Given the description of an element on the screen output the (x, y) to click on. 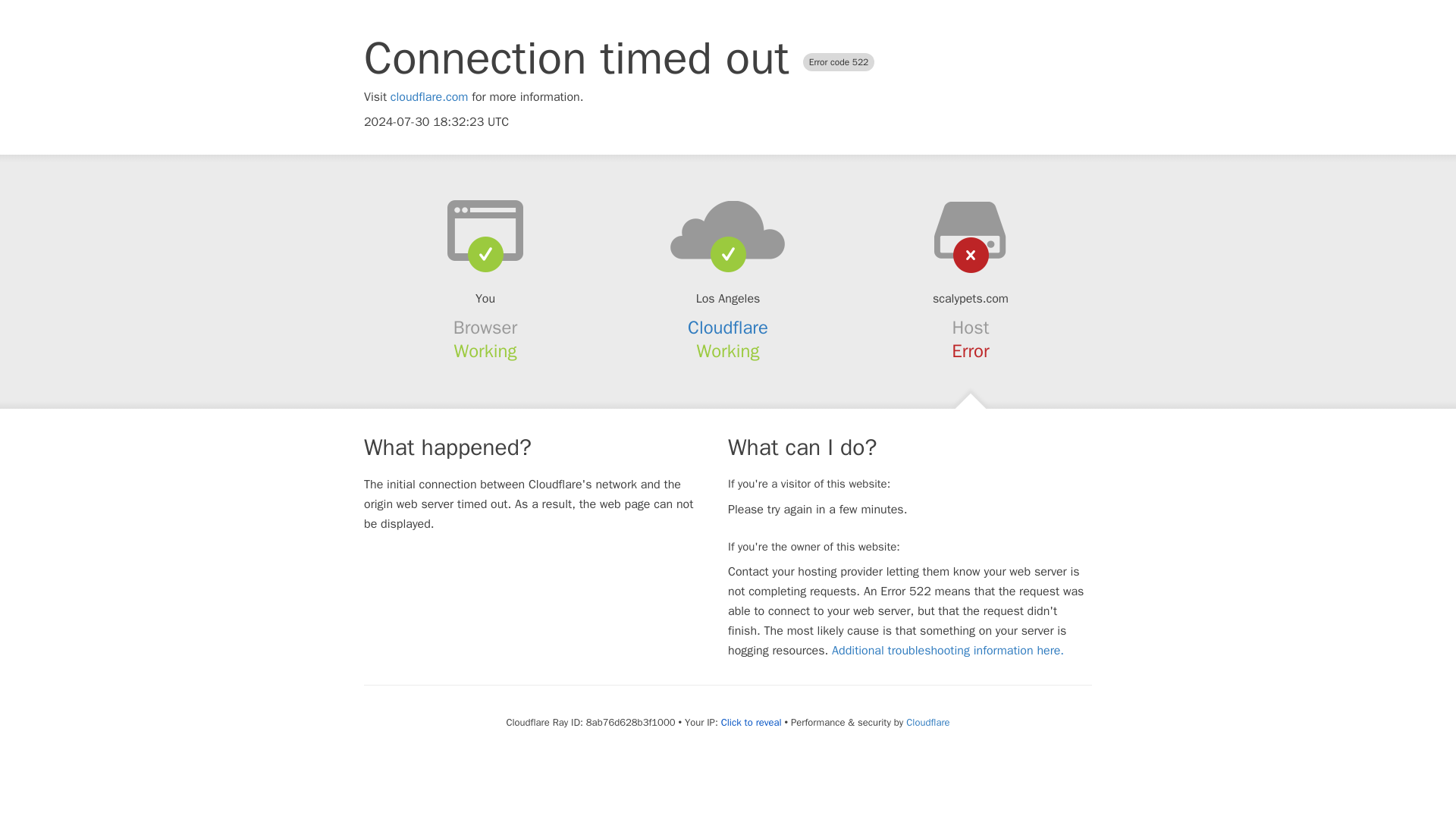
Cloudflare (927, 721)
Click to reveal (750, 722)
Cloudflare (727, 327)
cloudflare.com (429, 96)
Additional troubleshooting information here. (947, 650)
